Given the description of an element on the screen output the (x, y) to click on. 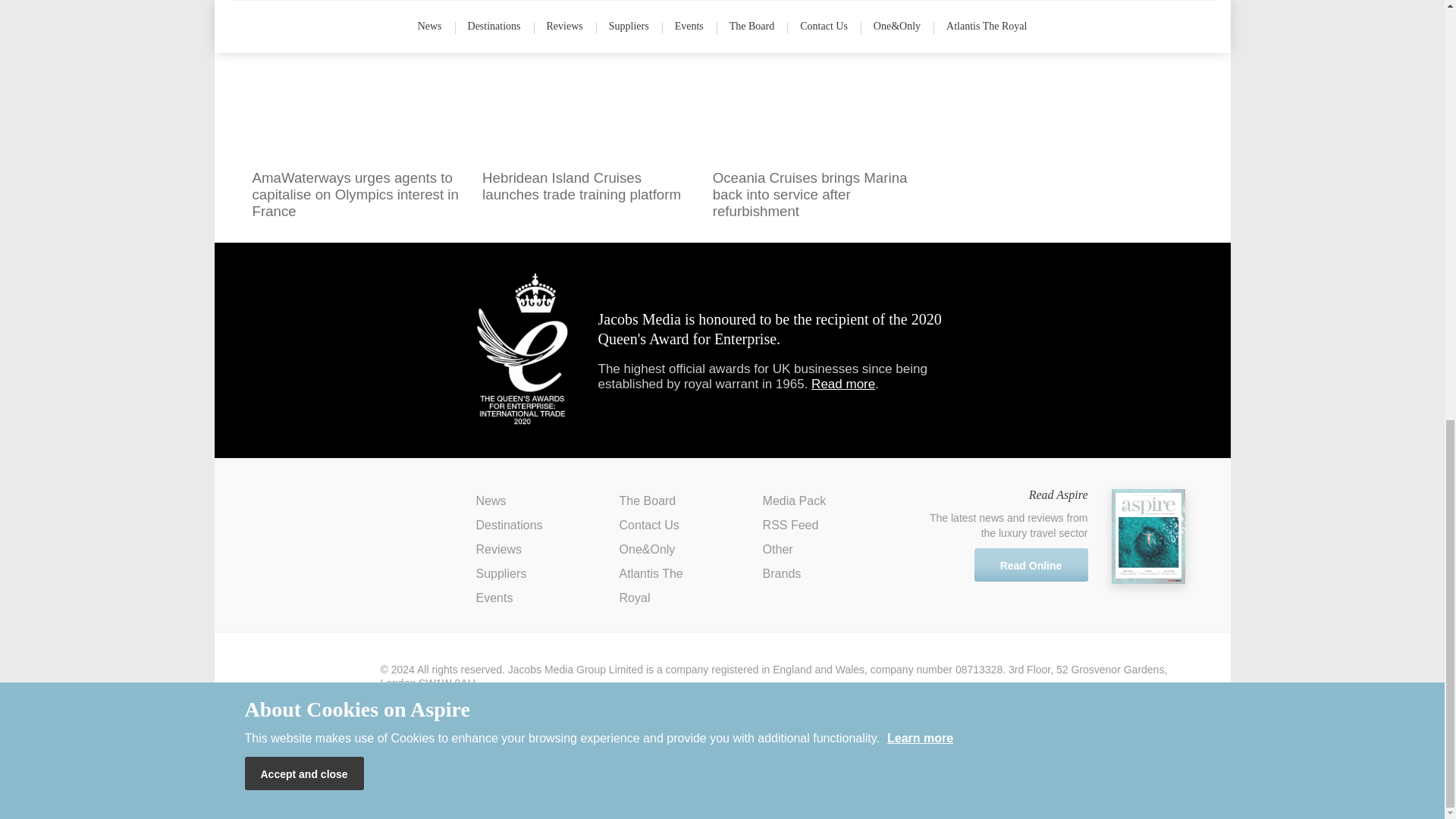
Read more (842, 383)
Hebridean Island Cruises launches trade training platform (589, 105)
Destinations (509, 524)
News (491, 500)
Aspire - The Luxury Travel Club from Travel Weekly (322, 512)
